Given the description of an element on the screen output the (x, y) to click on. 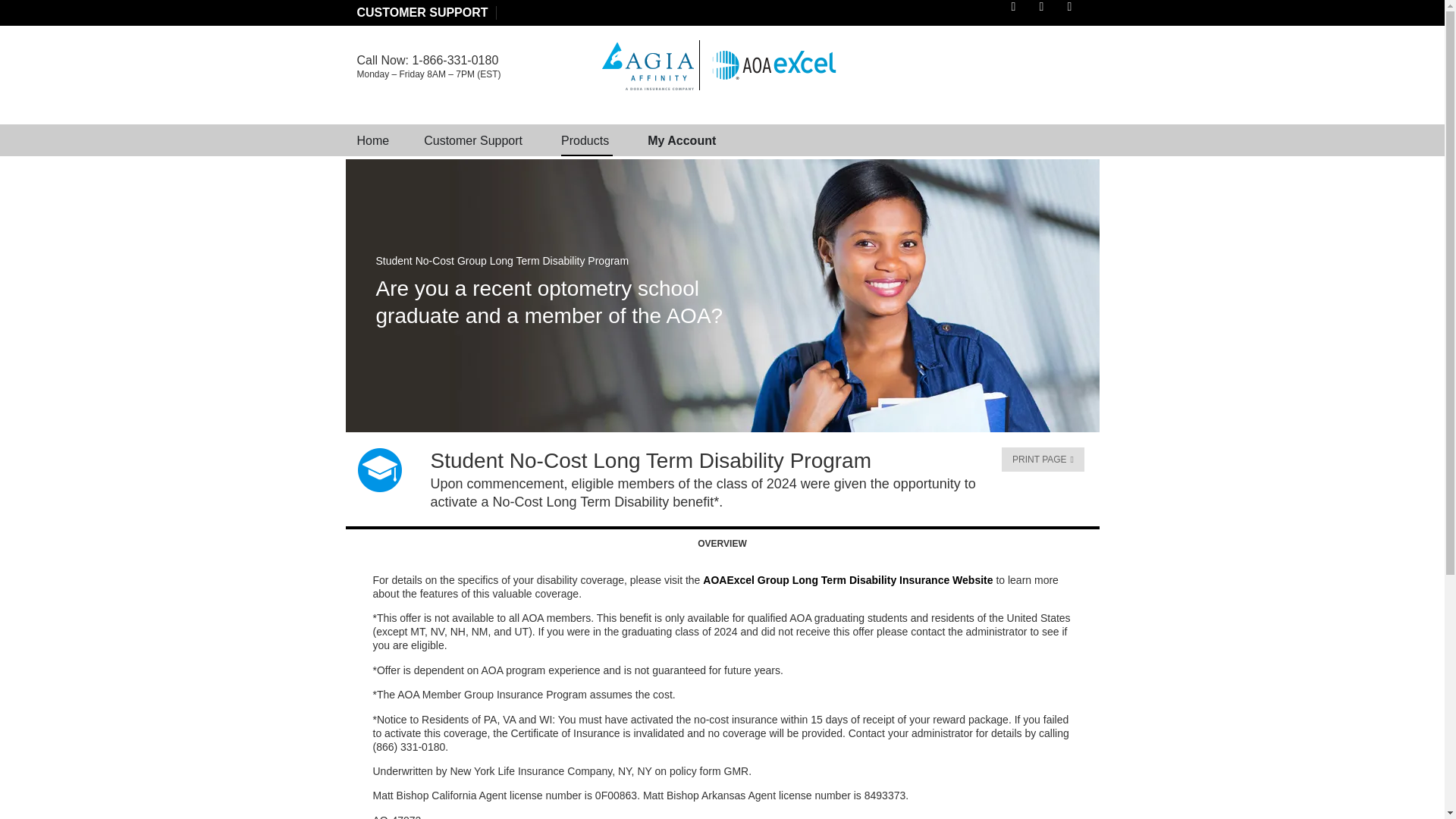
Home (372, 140)
Products (584, 140)
My Account (681, 140)
CUSTOMER SUPPORT (421, 11)
Customer Support (472, 140)
